Given the description of an element on the screen output the (x, y) to click on. 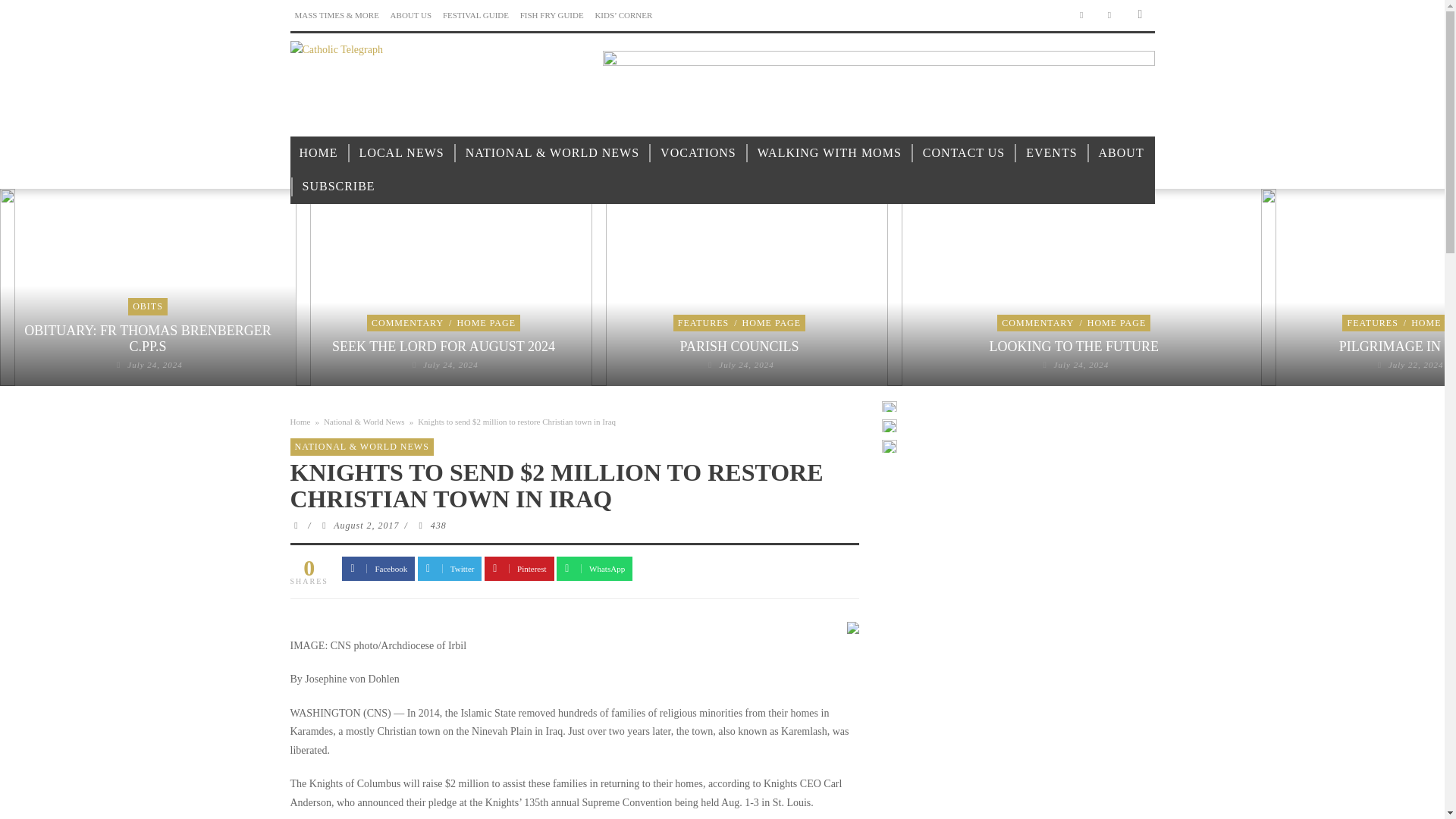
Facebook (1081, 15)
Permalink to Obituary: Fr Thomas Brenberger C.PP.S (147, 338)
Walking with Moms (829, 153)
View all posts in Commentary (407, 322)
View all posts in Home Page (485, 322)
LOCAL NEWS (401, 153)
Twitter (1110, 15)
ABOUT US (410, 15)
Permalink to Seek the Lord for August 2024 (442, 346)
Permalink to Obituary: Fr Thomas Brenberger C.PP.S (155, 364)
FISH FRY GUIDE (551, 15)
HOME (317, 153)
ABOUT (1121, 153)
FESTIVAL GUIDE (475, 15)
Permalink to Seek the Lord for August 2024 (451, 364)
